Given the description of an element on the screen output the (x, y) to click on. 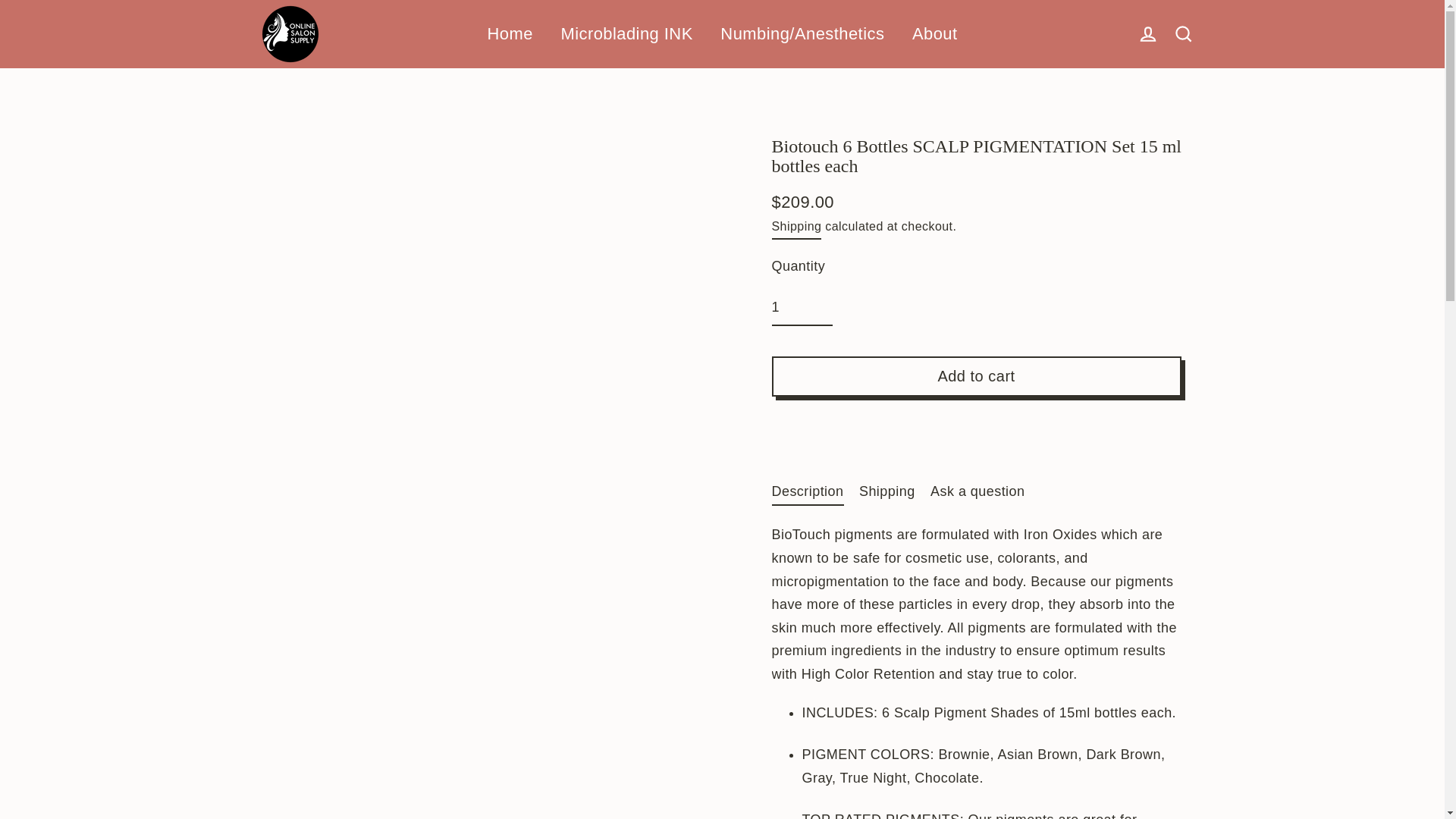
Home (509, 34)
Microblading INK (625, 34)
Log in (1143, 34)
1 (801, 307)
About (935, 34)
